Given the description of an element on the screen output the (x, y) to click on. 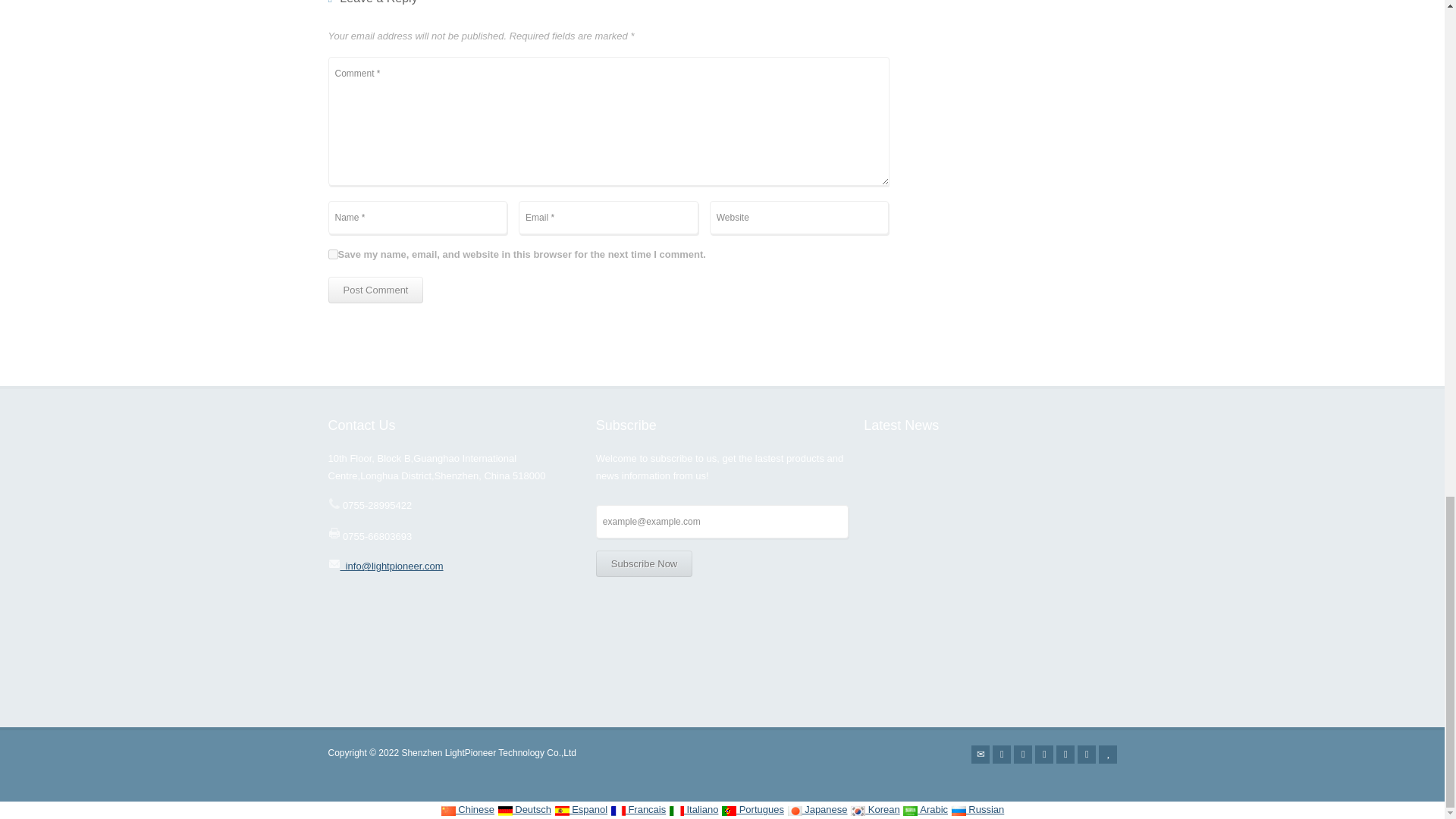
Website (799, 217)
Post Comment (375, 289)
Subscribe Now (644, 563)
yes (332, 254)
Post Comment (375, 289)
